Given the description of an element on the screen output the (x, y) to click on. 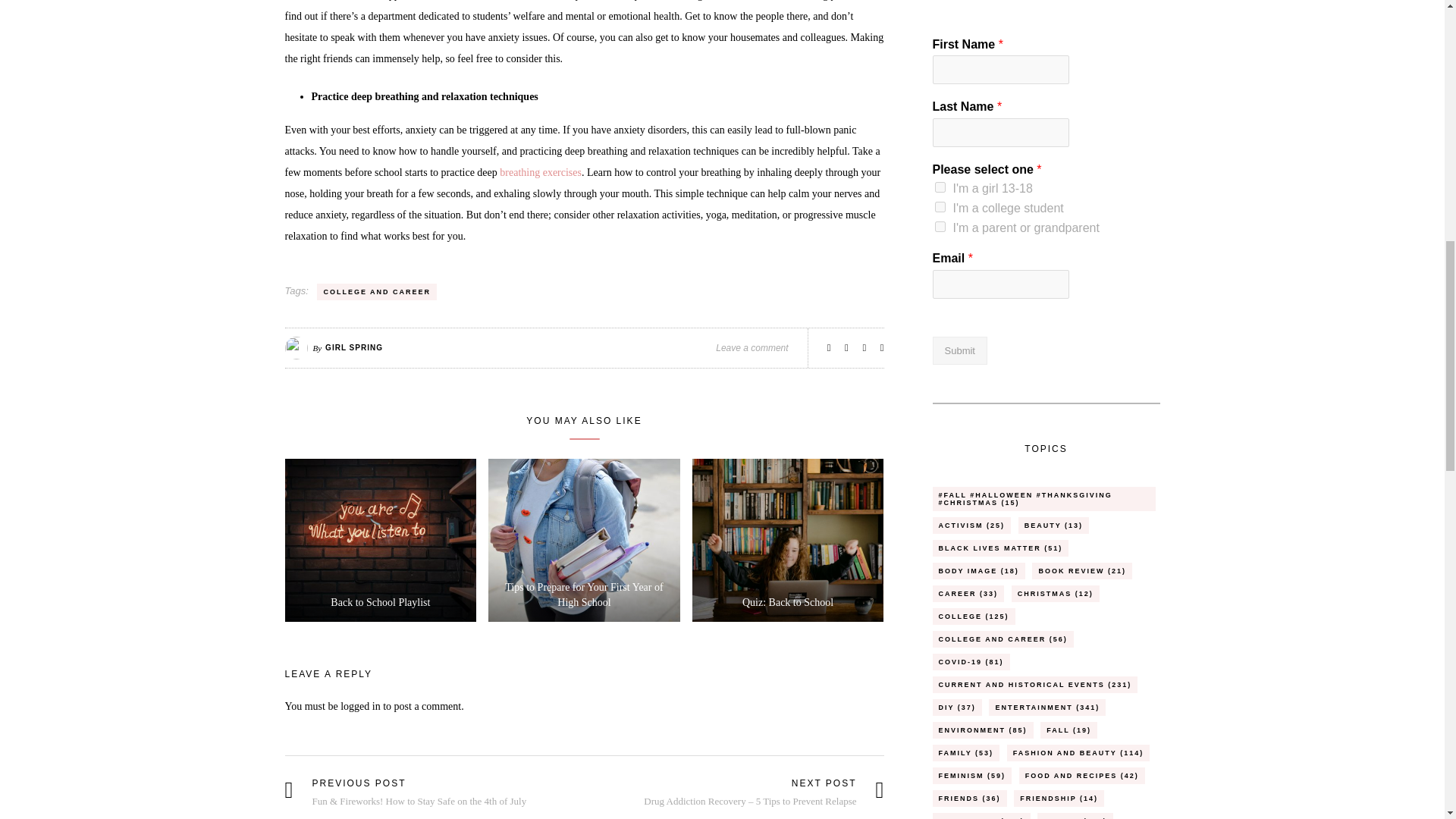
I'm a college student  (939, 206)
I'm a girl 13-18 (939, 186)
Posts by Girl Spring (353, 347)
I'm a parent or grandparent (939, 226)
